Given the description of an element on the screen output the (x, y) to click on. 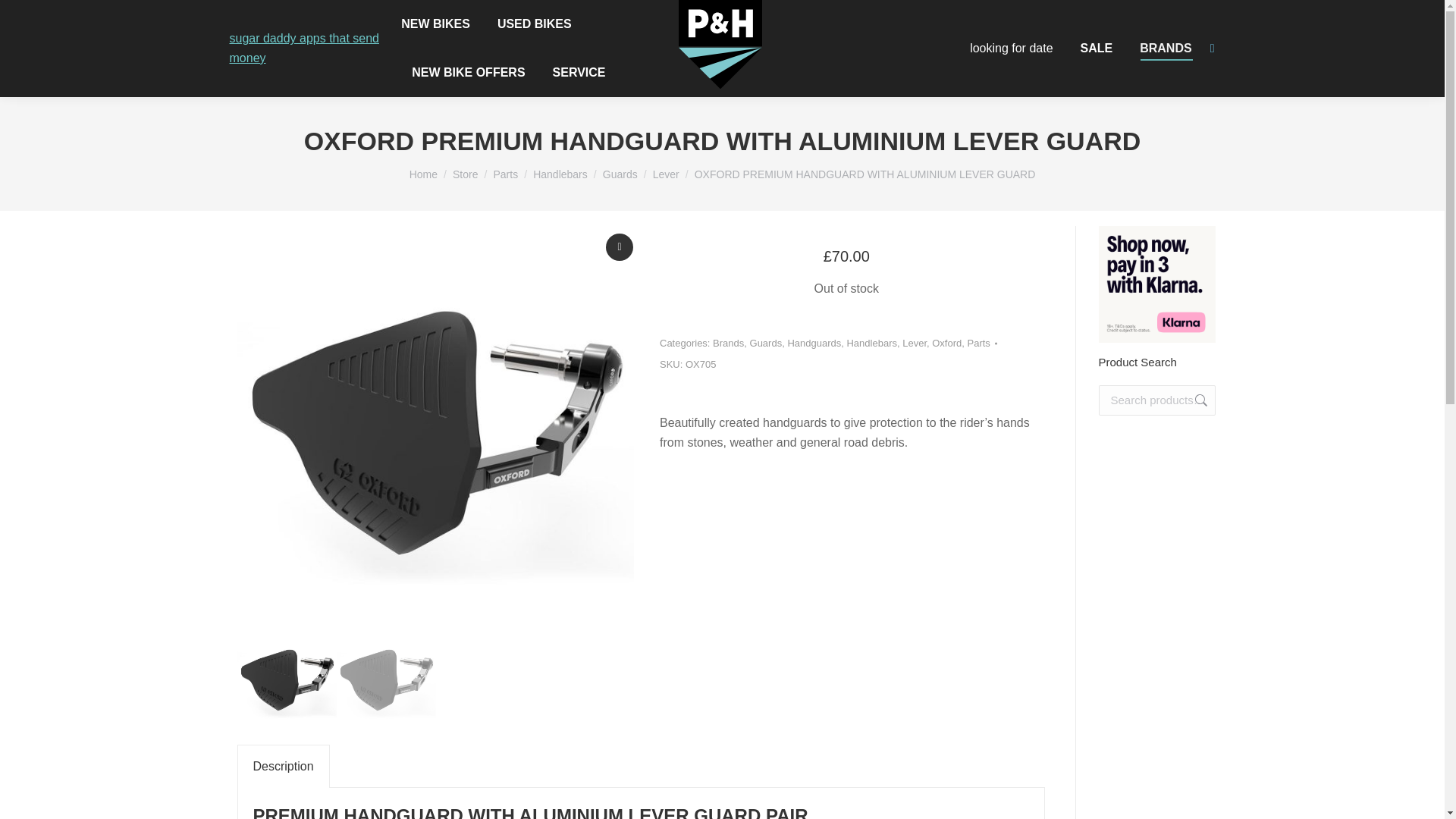
USED BIKES (535, 24)
Store (464, 174)
Handlebars (560, 174)
Go! (24, 15)
PREMIUM HANDGUARD WITH ALUMINIUM LEVER GUARD PAIR-0 (385, 678)
NEW BIKES (435, 24)
Parts (505, 174)
NEW BIKE OFFERS (468, 72)
Guards (619, 174)
Home (423, 174)
Lever (665, 174)
PREMIUM HANDGUARD WITH ALUMINIUM LEVER GUARD PAIR-0 (285, 678)
looking for date (1010, 48)
SERVICE (579, 72)
